Given the description of an element on the screen output the (x, y) to click on. 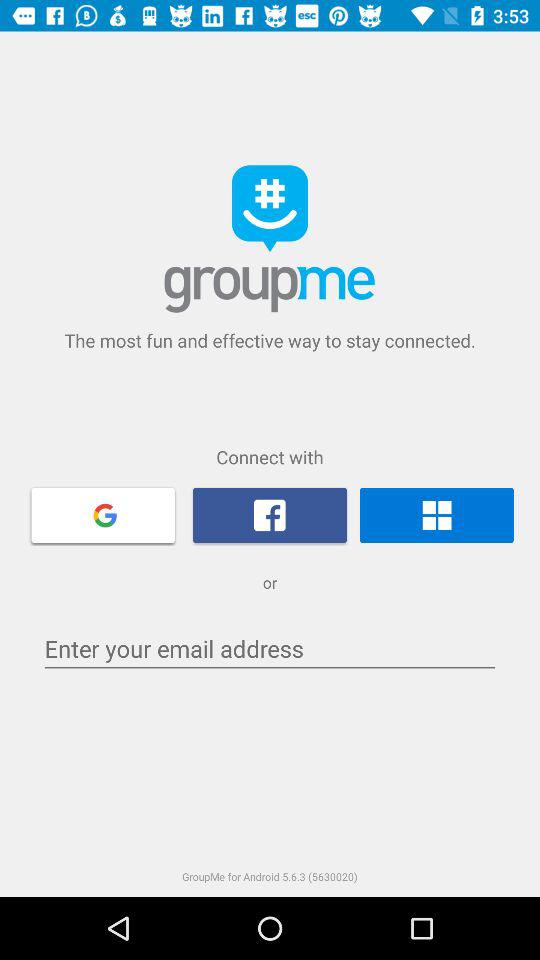
microsoft authenticator (436, 515)
